Given the description of an element on the screen output the (x, y) to click on. 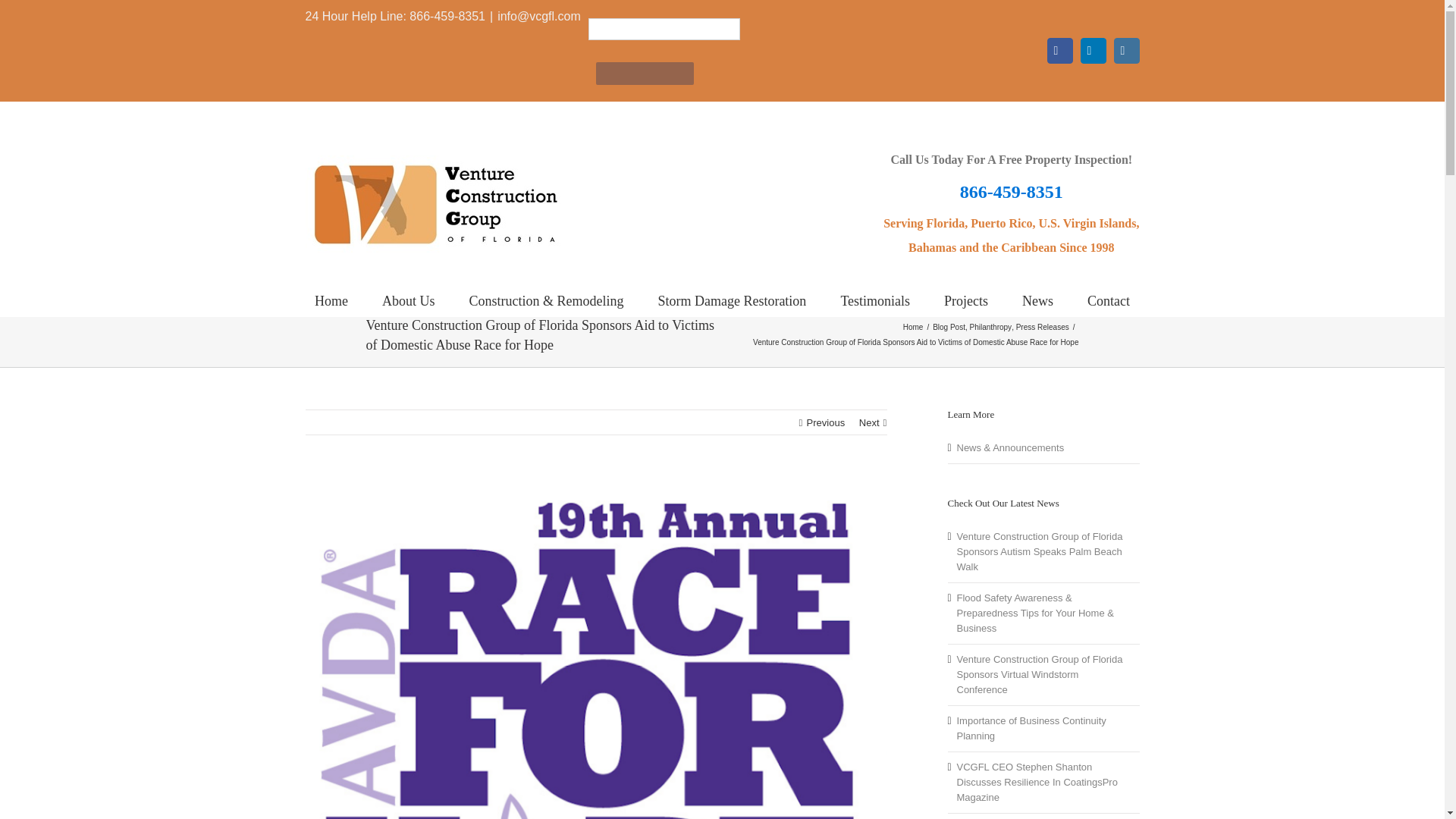
Testimonials (875, 299)
Home (330, 299)
News (1037, 299)
Linkedin (1093, 50)
Facebook (1059, 50)
About Us (408, 299)
Storm Damage Restoration (732, 299)
Join our Newsletter (644, 73)
Instagram (1126, 50)
Contact (1108, 299)
Projects (965, 299)
Join our Newsletter (644, 73)
